Given the description of an element on the screen output the (x, y) to click on. 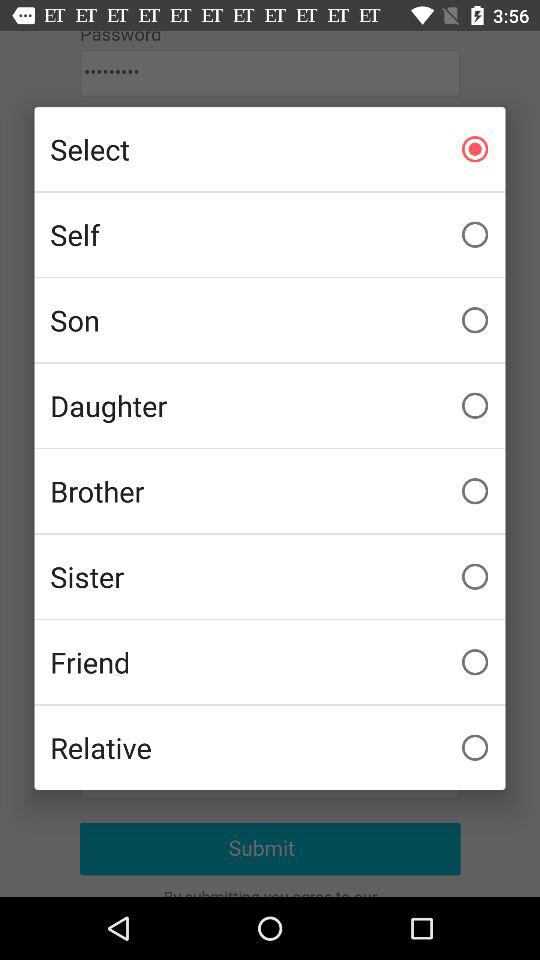
press the checkbox below the self item (269, 320)
